Given the description of an element on the screen output the (x, y) to click on. 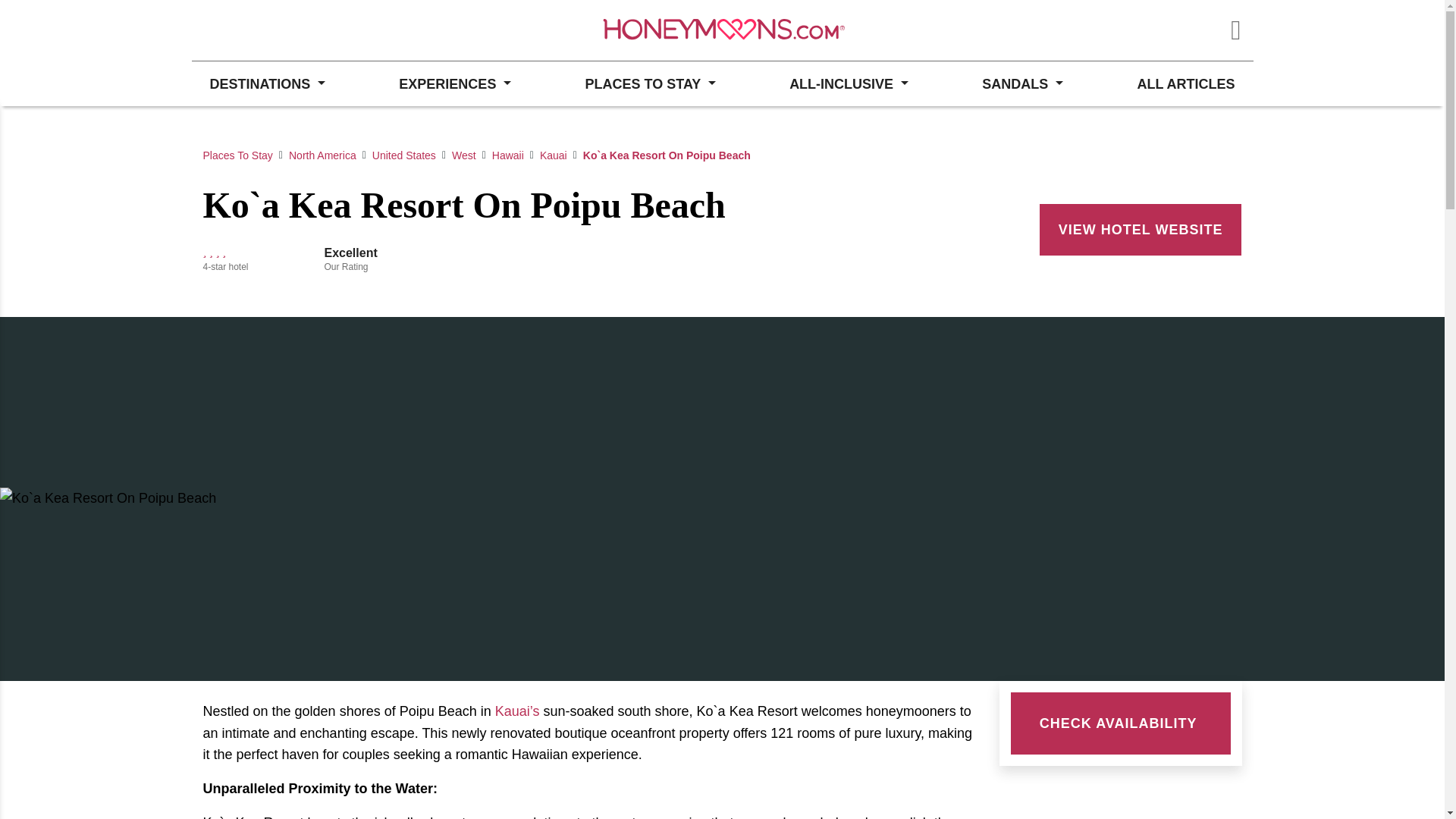
DESTINATIONS (266, 84)
EXPERIENCES (454, 84)
Connect With A Travel Advisor (273, 30)
